Given the description of an element on the screen output the (x, y) to click on. 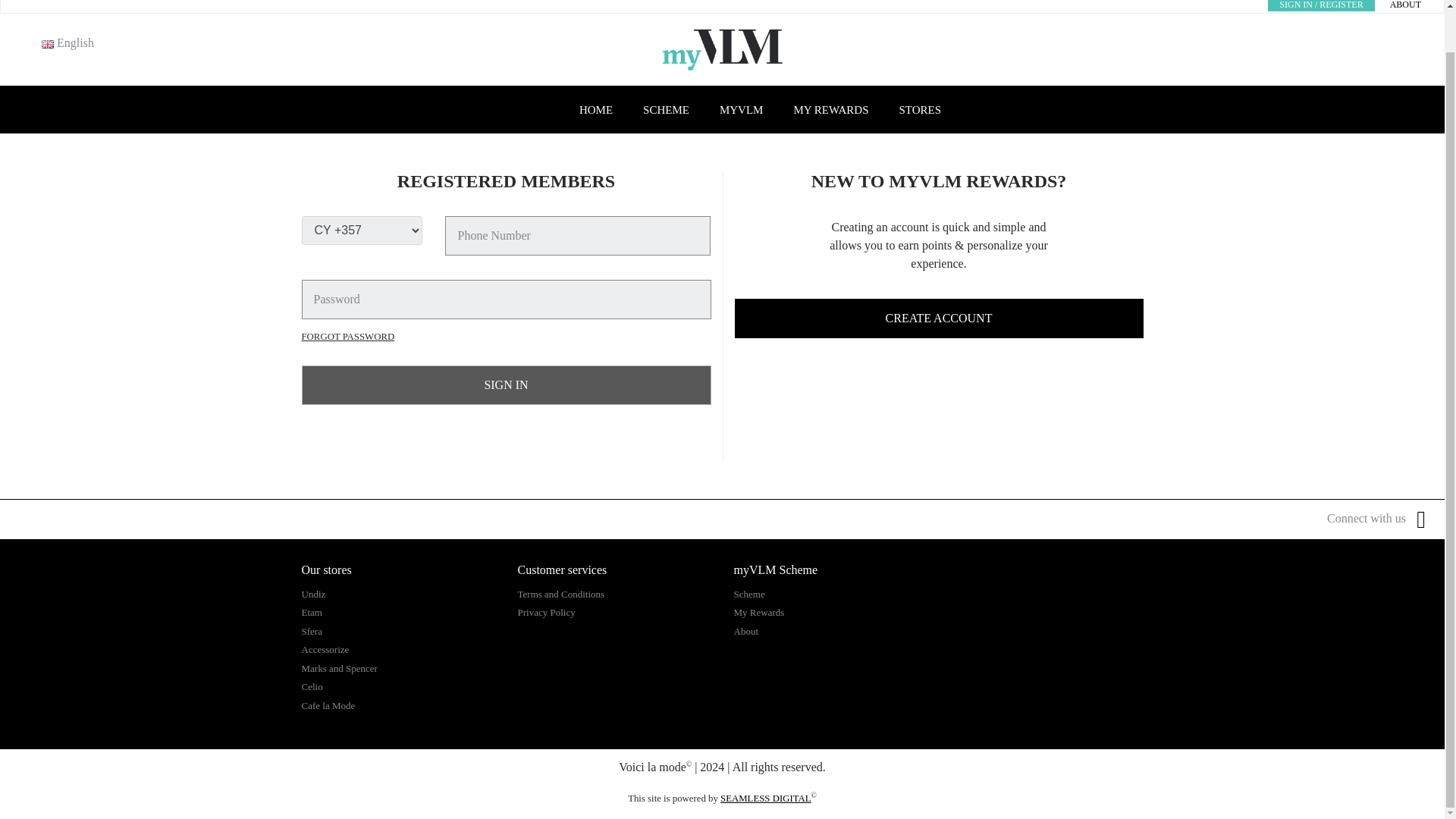
Cafe la Mode (328, 705)
MY REWARDS (830, 110)
Undiz (313, 593)
STORES (919, 110)
Privacy Policy (545, 612)
SCHEME (665, 110)
Accessorize (325, 649)
Sign In (506, 384)
Celio (312, 686)
Sfera (311, 631)
Sign In (506, 384)
Terms and Conditions (560, 593)
English (47, 44)
Etam (311, 612)
MYVLM (741, 110)
